Given the description of an element on the screen output the (x, y) to click on. 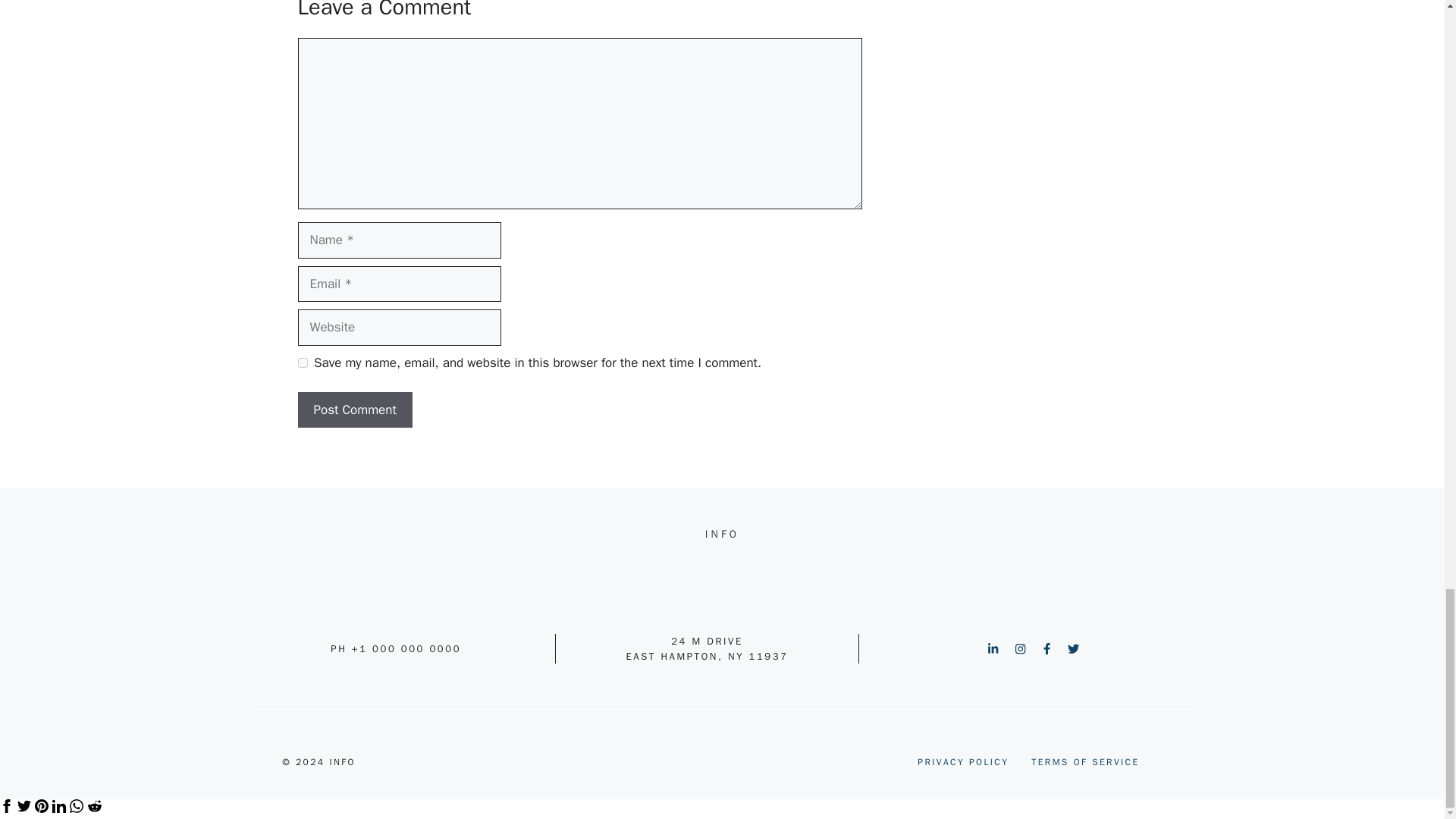
Post Comment (354, 410)
yes (302, 362)
